Given the description of an element on the screen output the (x, y) to click on. 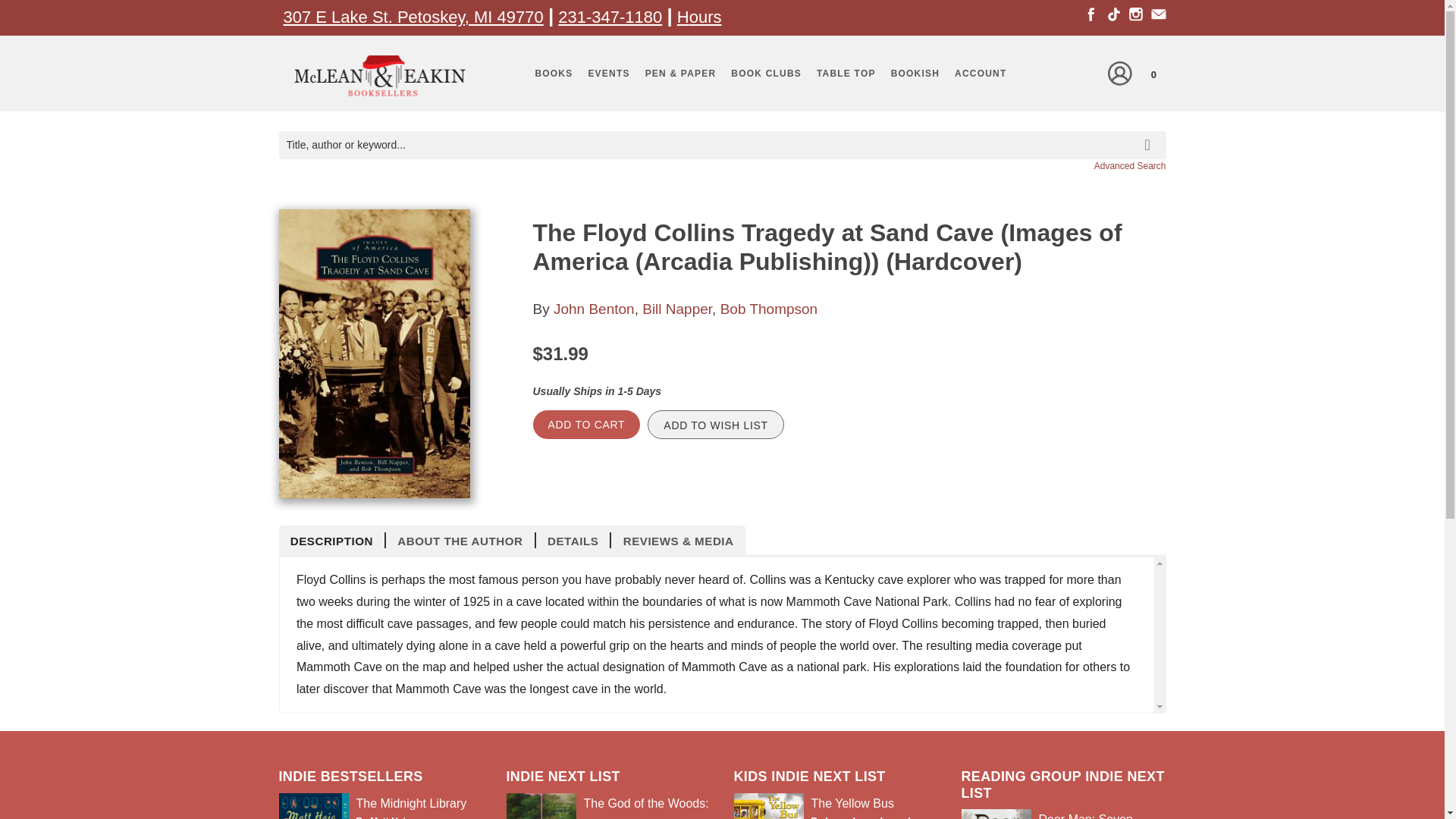
231-347-1180 (609, 16)
Title, author or keyword... (722, 144)
BOOK CLUBS (766, 73)
Add to Cart (586, 424)
Home (381, 78)
search (1150, 133)
TABLE TOP (846, 73)
EVENTS (608, 73)
ours (705, 16)
BOOKISH (915, 73)
BOOKS (553, 73)
307 E Lake St. Petoskey, MI 49770 (413, 16)
